Given the description of an element on the screen output the (x, y) to click on. 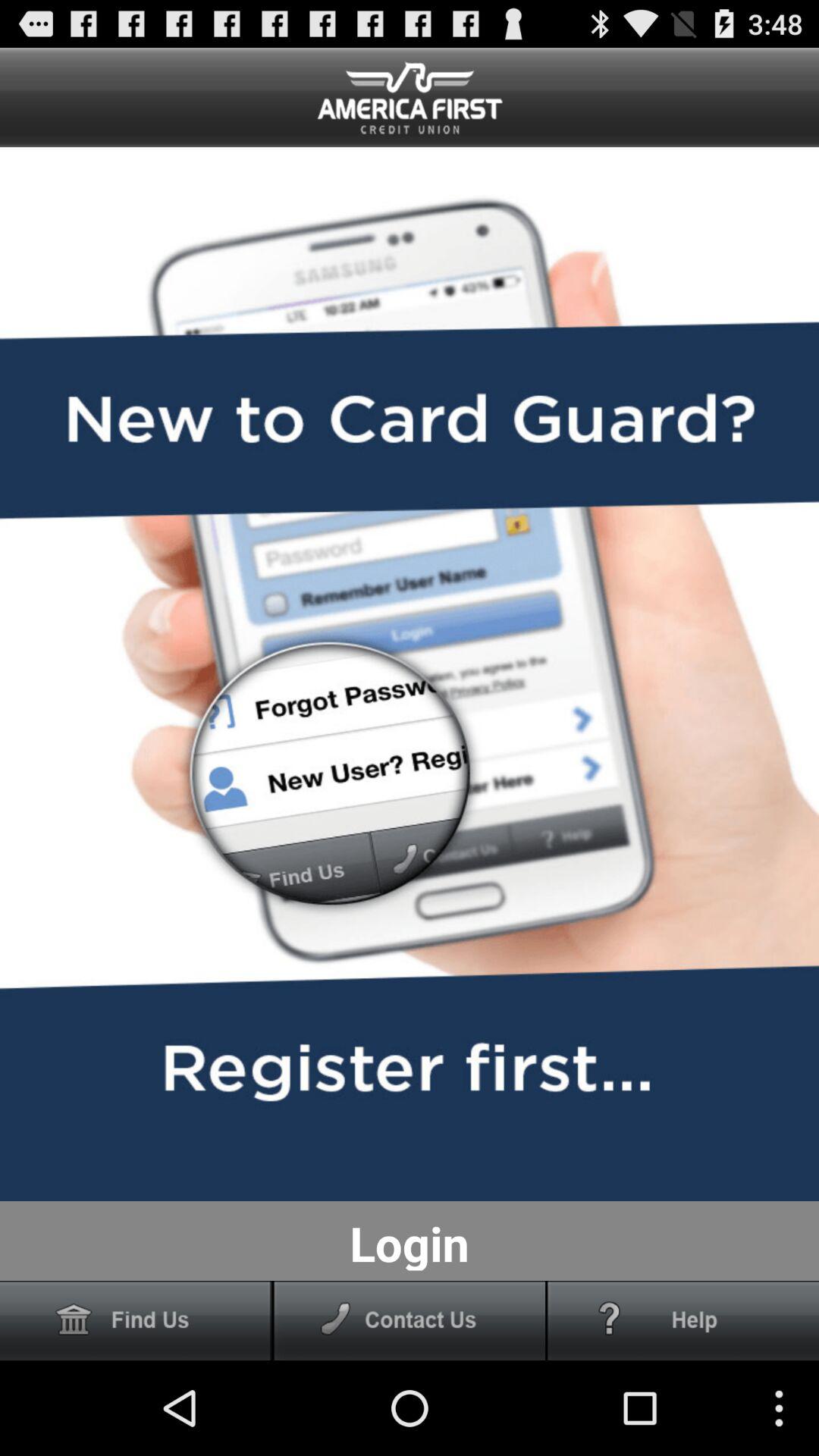
find us option (135, 1320)
